Given the description of an element on the screen output the (x, y) to click on. 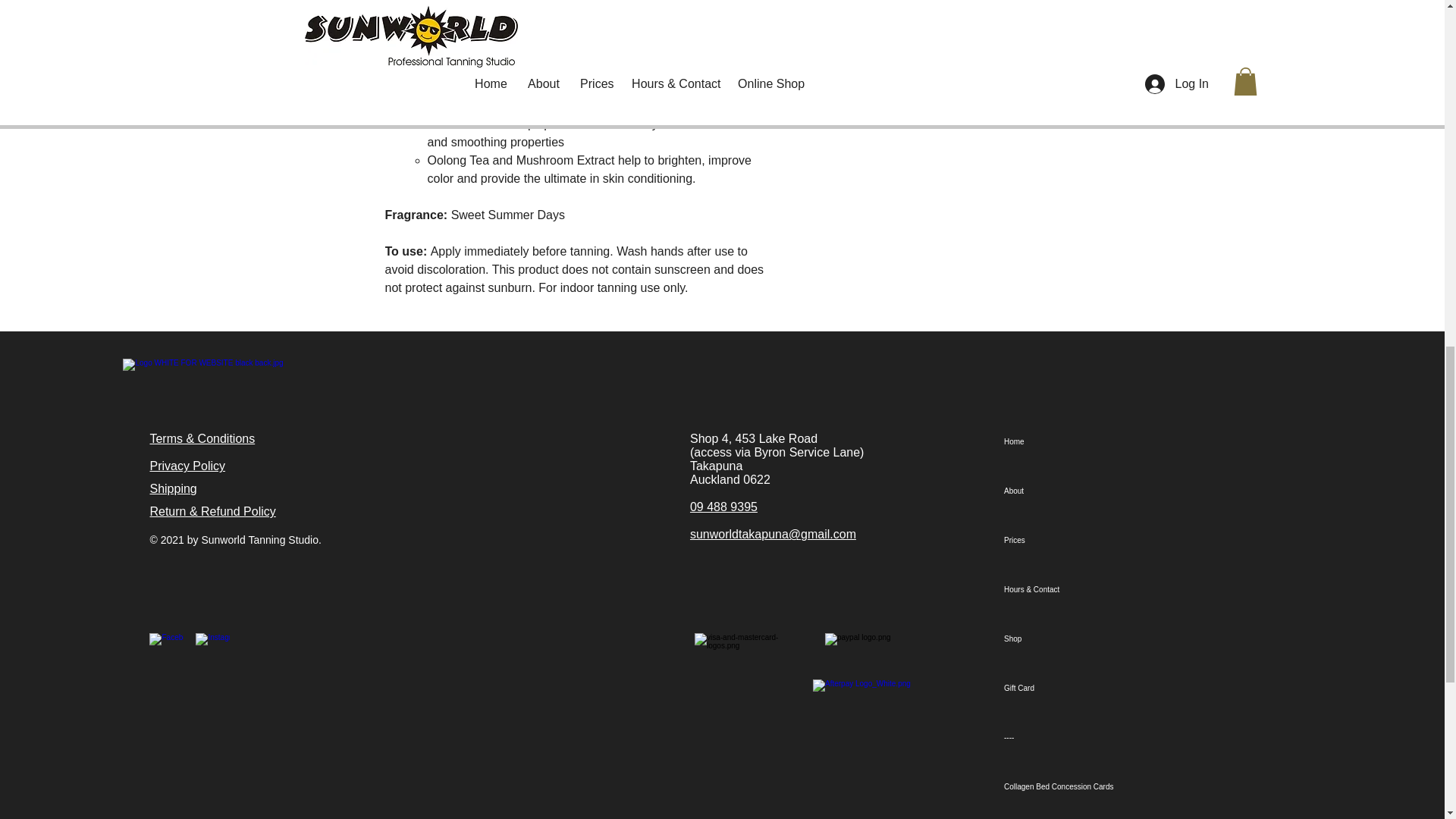
---- (1087, 737)
About (1087, 490)
09 488 9395 (723, 506)
Privacy Policy (187, 465)
Shipping (172, 488)
Home (1087, 441)
Shop (1087, 638)
Prices (1087, 540)
Gift Card (1087, 687)
